Given the description of an element on the screen output the (x, y) to click on. 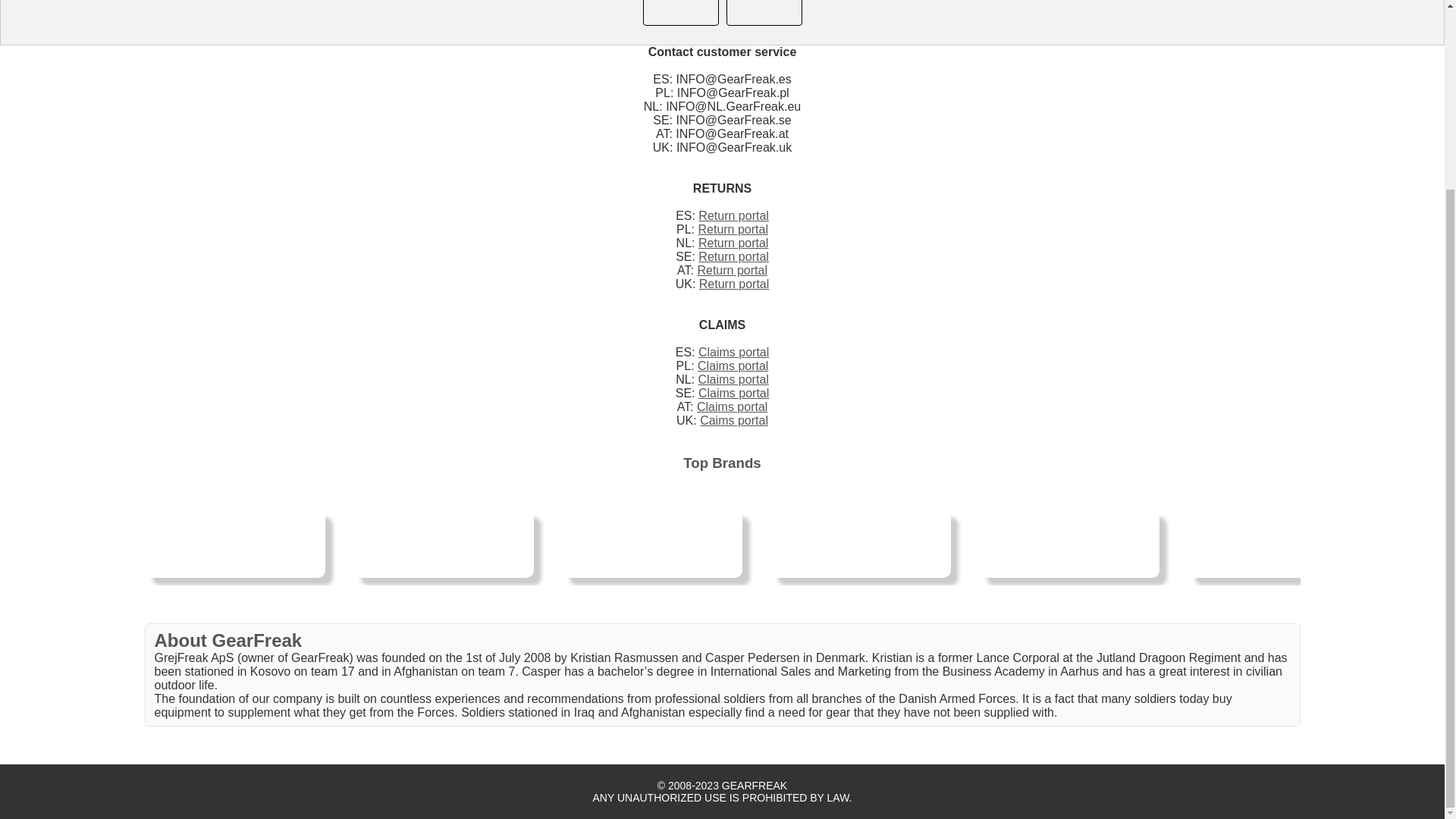
Claims portal (733, 351)
Return portal (732, 228)
Caims portal (734, 420)
Claims portal (732, 365)
Return portal (732, 269)
Claims portal (732, 406)
Return portal (733, 242)
Claims portal (732, 379)
Return portal (733, 215)
Return portal (734, 283)
